Given the description of an element on the screen output the (x, y) to click on. 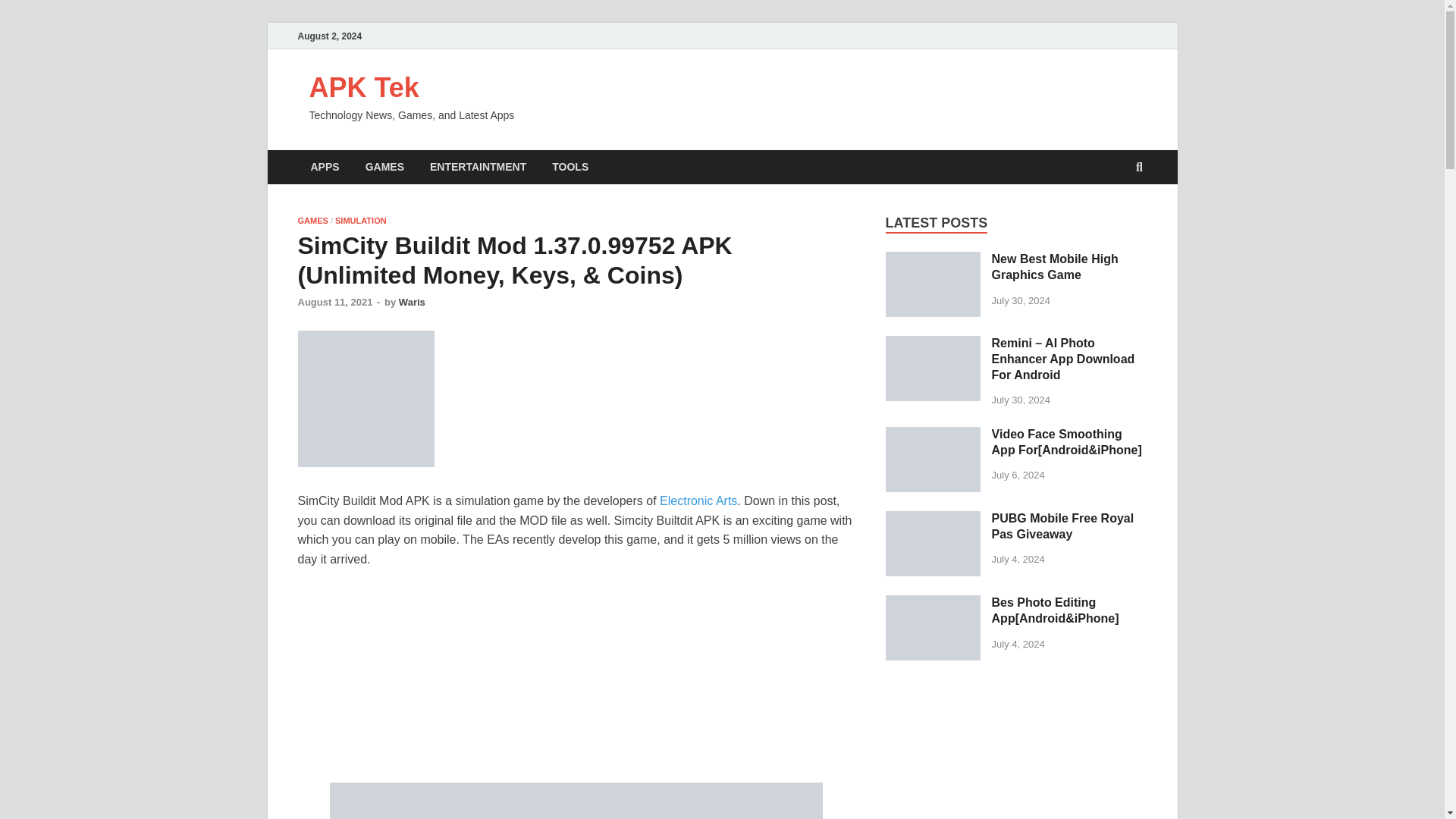
August 11, 2021 (334, 301)
PUBG Mobile Free Royal Pas Giveaway (1062, 525)
GAMES (312, 220)
TOOLS (569, 166)
APK Tek (363, 87)
New Best Mobile High Graphics Game (932, 259)
Electronic Arts (697, 500)
APPS (324, 166)
GAMES (384, 166)
ENTERTAINTMENT (477, 166)
New Best Mobile High Graphics Game (1054, 266)
SIMULATION (360, 220)
Waris (411, 301)
New Best Mobile High Graphics Game (932, 283)
